Given the description of an element on the screen output the (x, y) to click on. 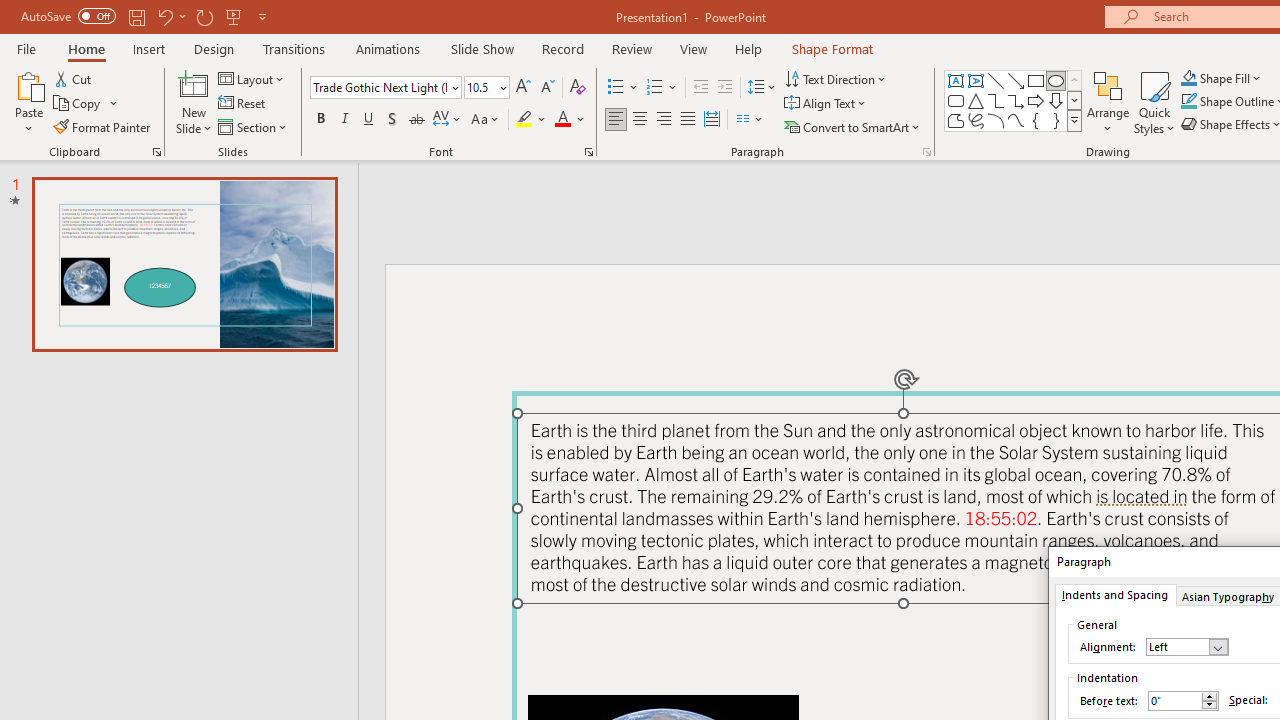
Indents and Spacing (1114, 593)
